Given the description of an element on the screen output the (x, y) to click on. 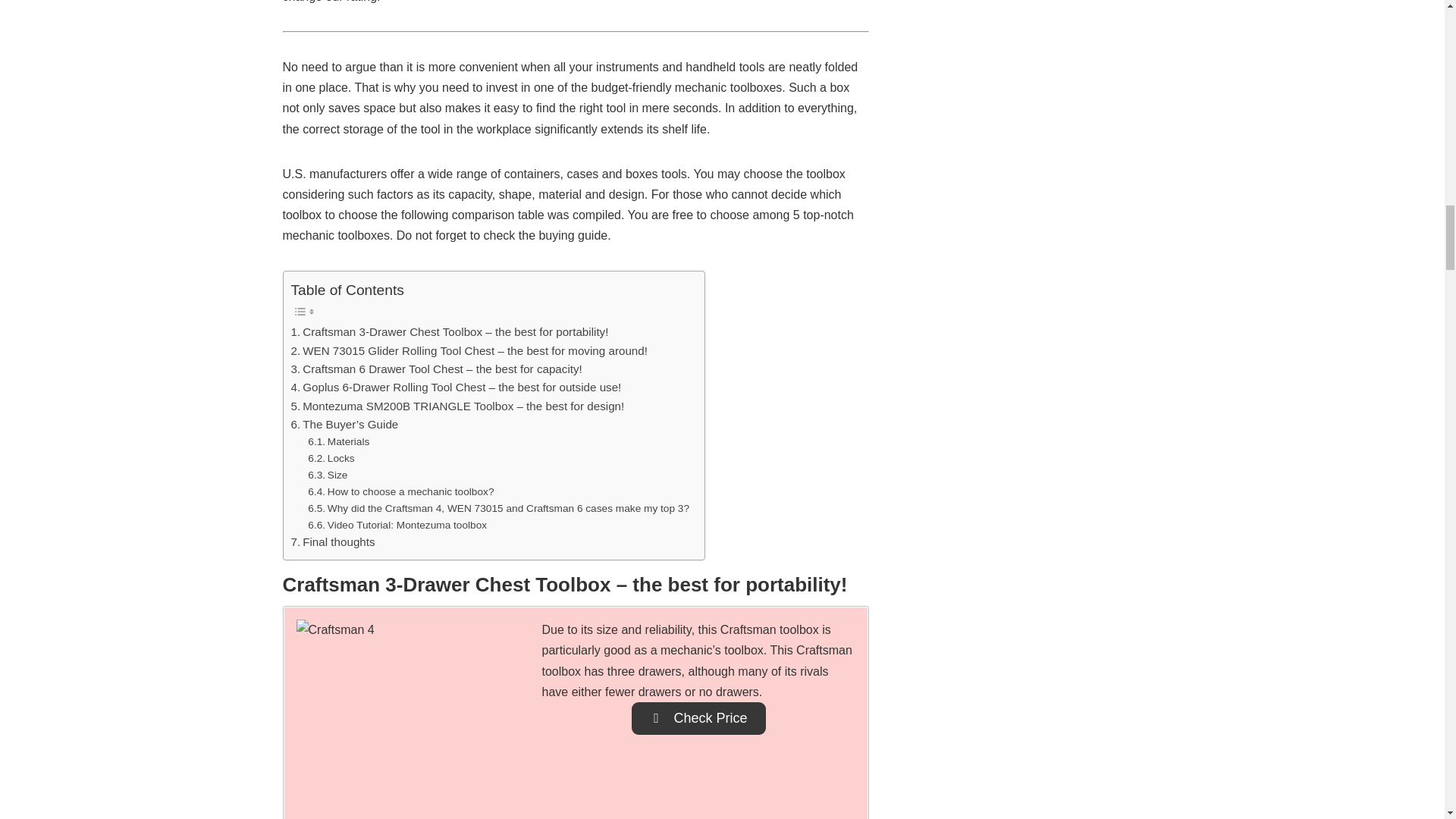
Materials (338, 442)
